Given the description of an element on the screen output the (x, y) to click on. 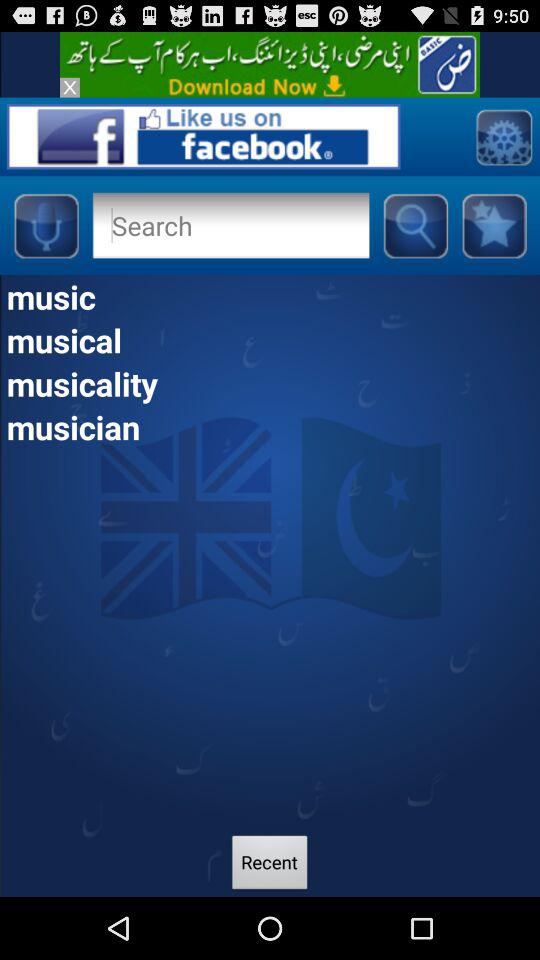
jump to recent button (269, 864)
